Given the description of an element on the screen output the (x, y) to click on. 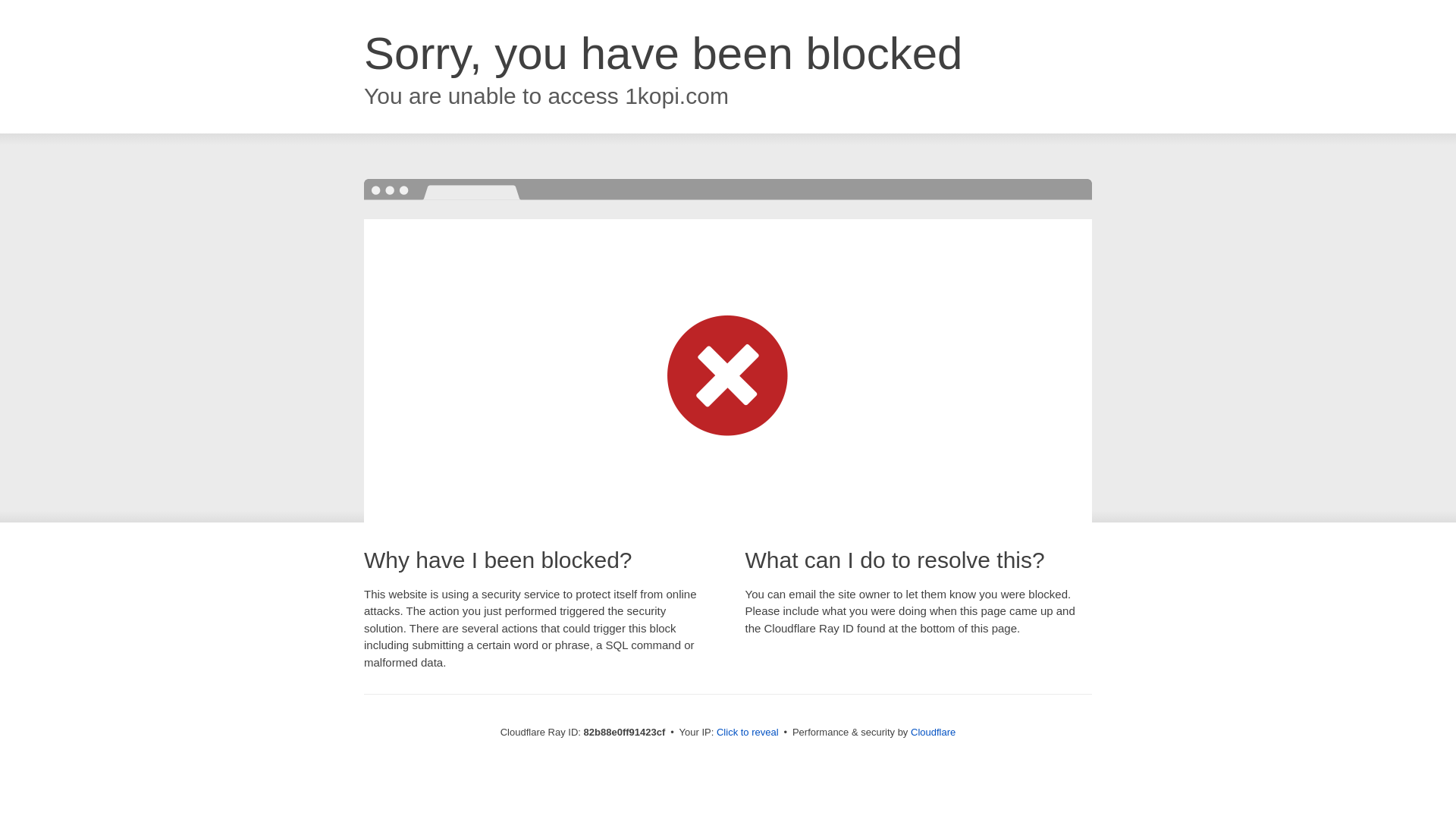
Click to reveal Element type: text (747, 732)
Cloudflare Element type: text (932, 731)
